Given the description of an element on the screen output the (x, y) to click on. 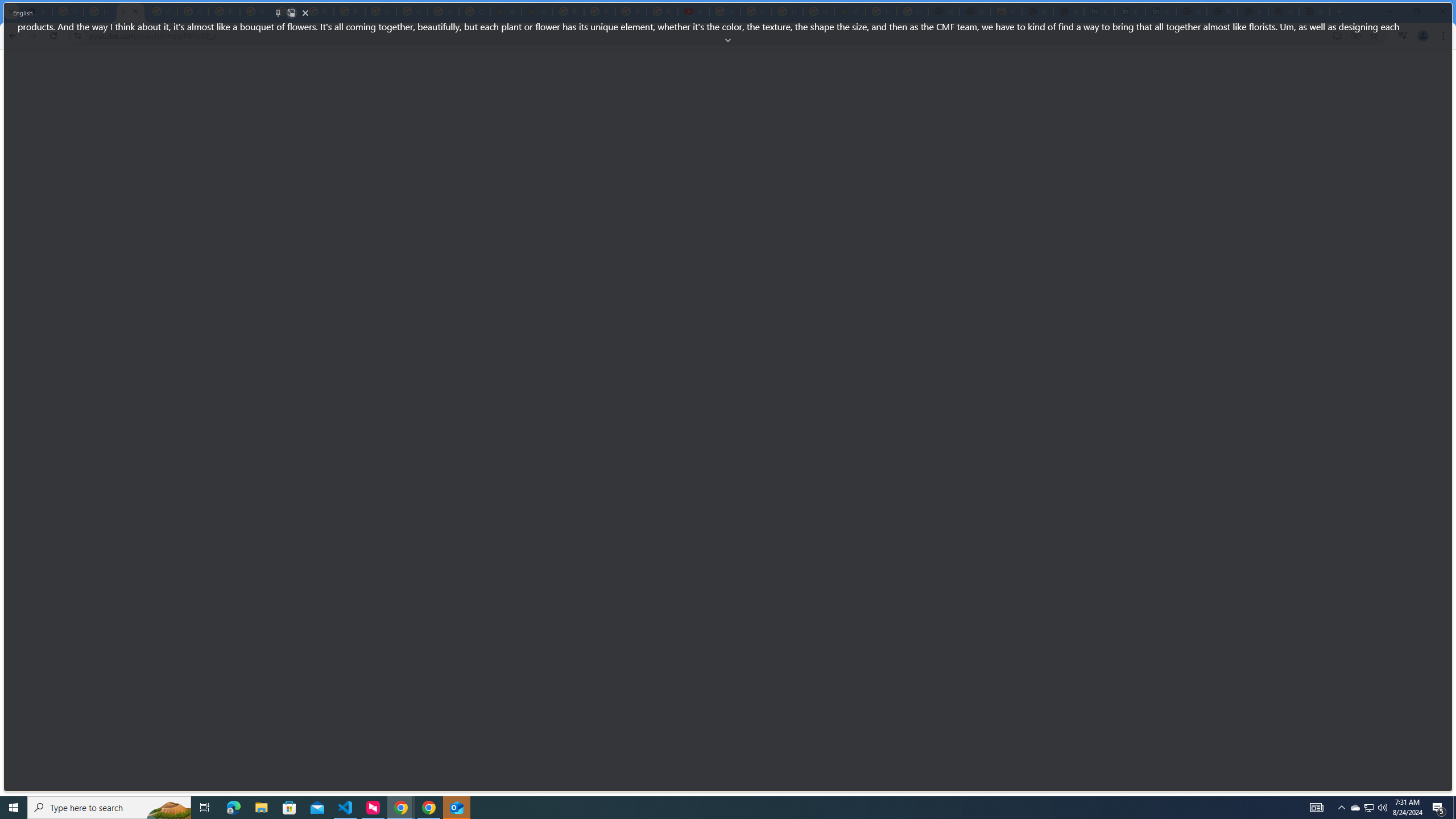
Blogger Policies and Guidelines - Transparency Center (568, 11)
Subscriptions - YouTube (693, 11)
Cookie Policy | LinkedIn (1098, 11)
Google Account Help (161, 11)
Google Maps (849, 11)
Learn how to find your photos - Google Photos Help (98, 11)
Privacy Help Center - Policies Help (318, 11)
